Given the description of an element on the screen output the (x, y) to click on. 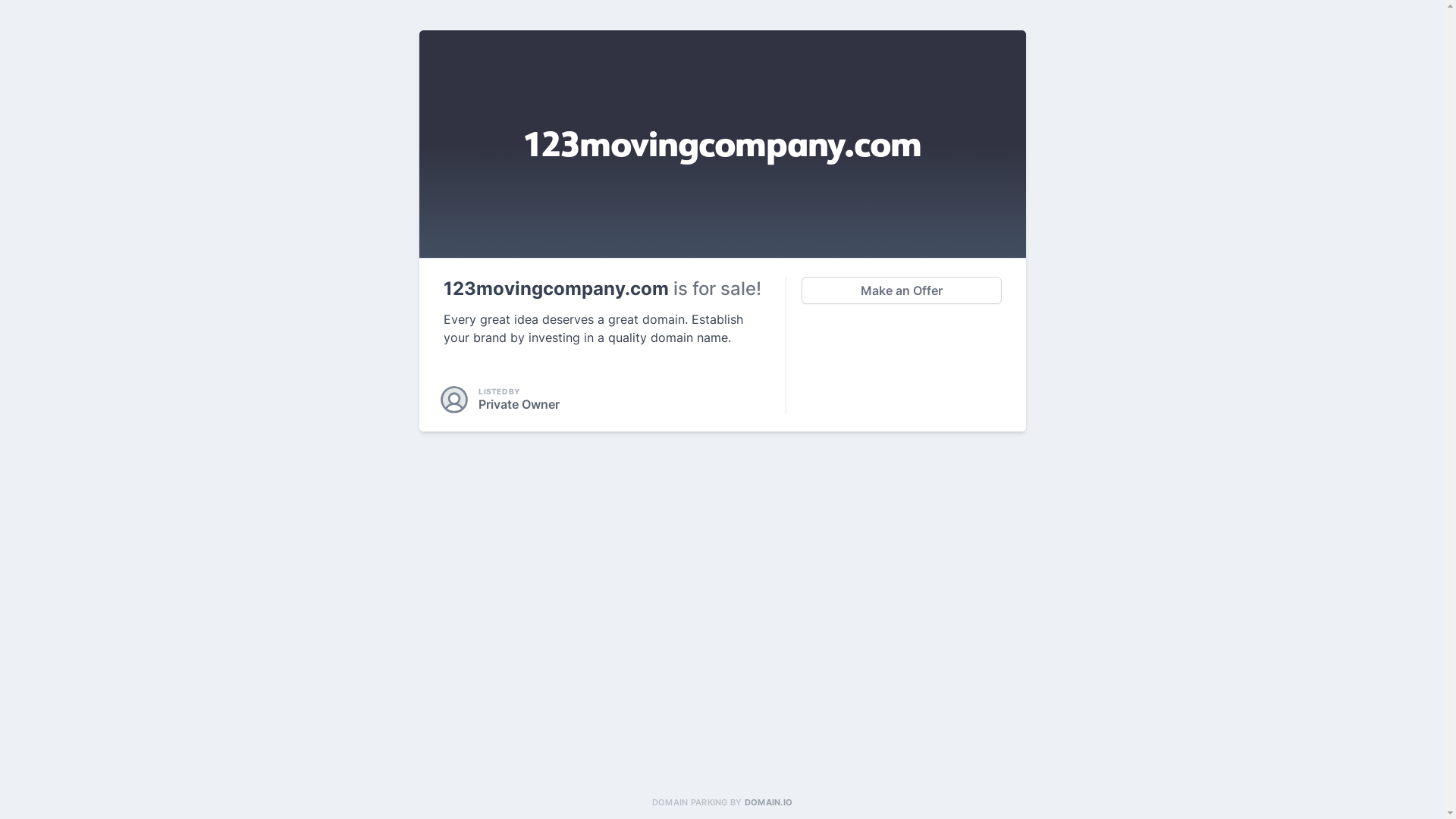
LISTED BY
Private Owner Element type: text (500, 399)
Make an Offer Element type: text (900, 290)
DOMAIN PARKING BY DOMAIN.IO Element type: text (722, 802)
